Given the description of an element on the screen output the (x, y) to click on. 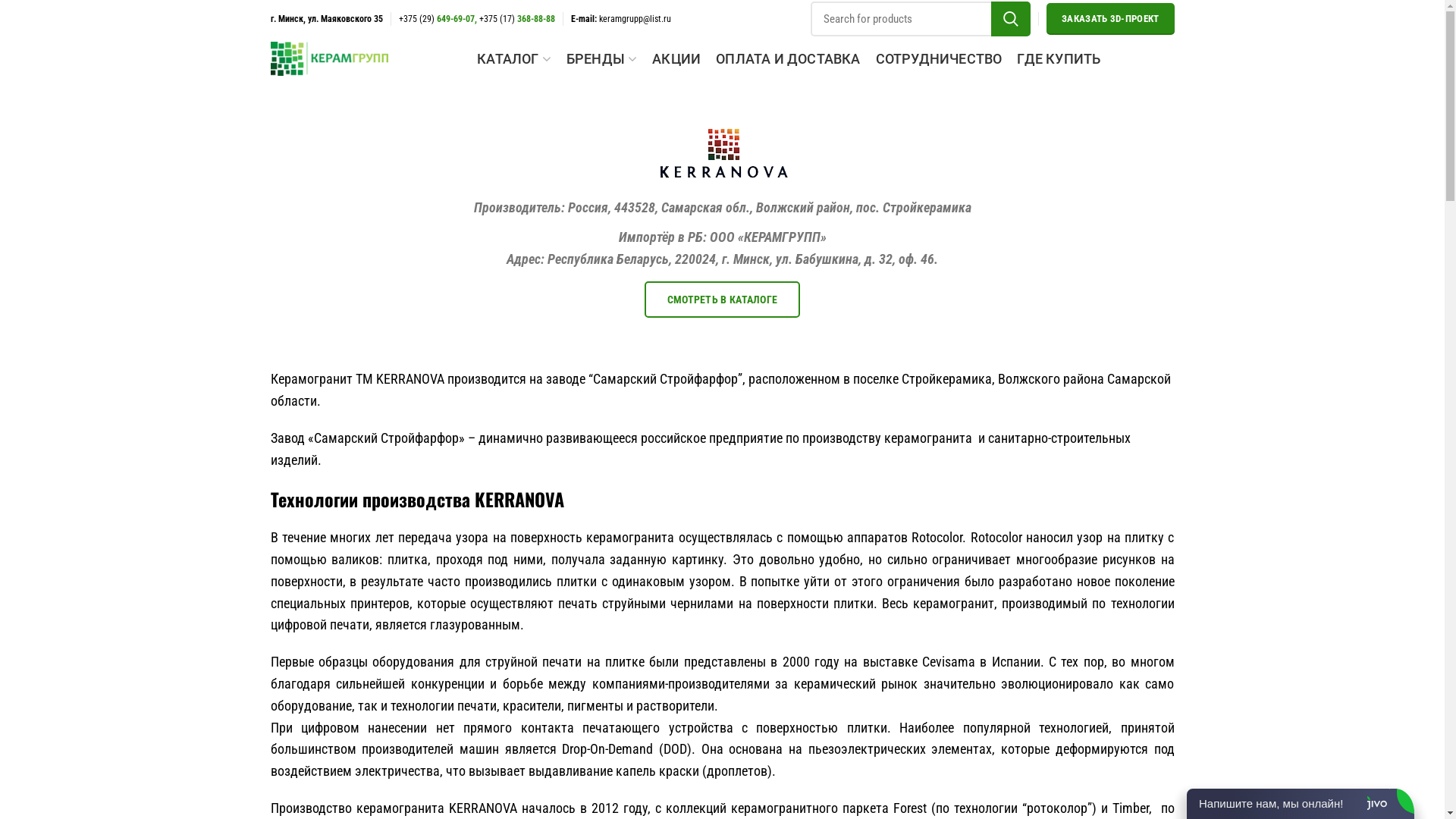
SEARCH Element type: text (1010, 18)
